Given the description of an element on the screen output the (x, y) to click on. 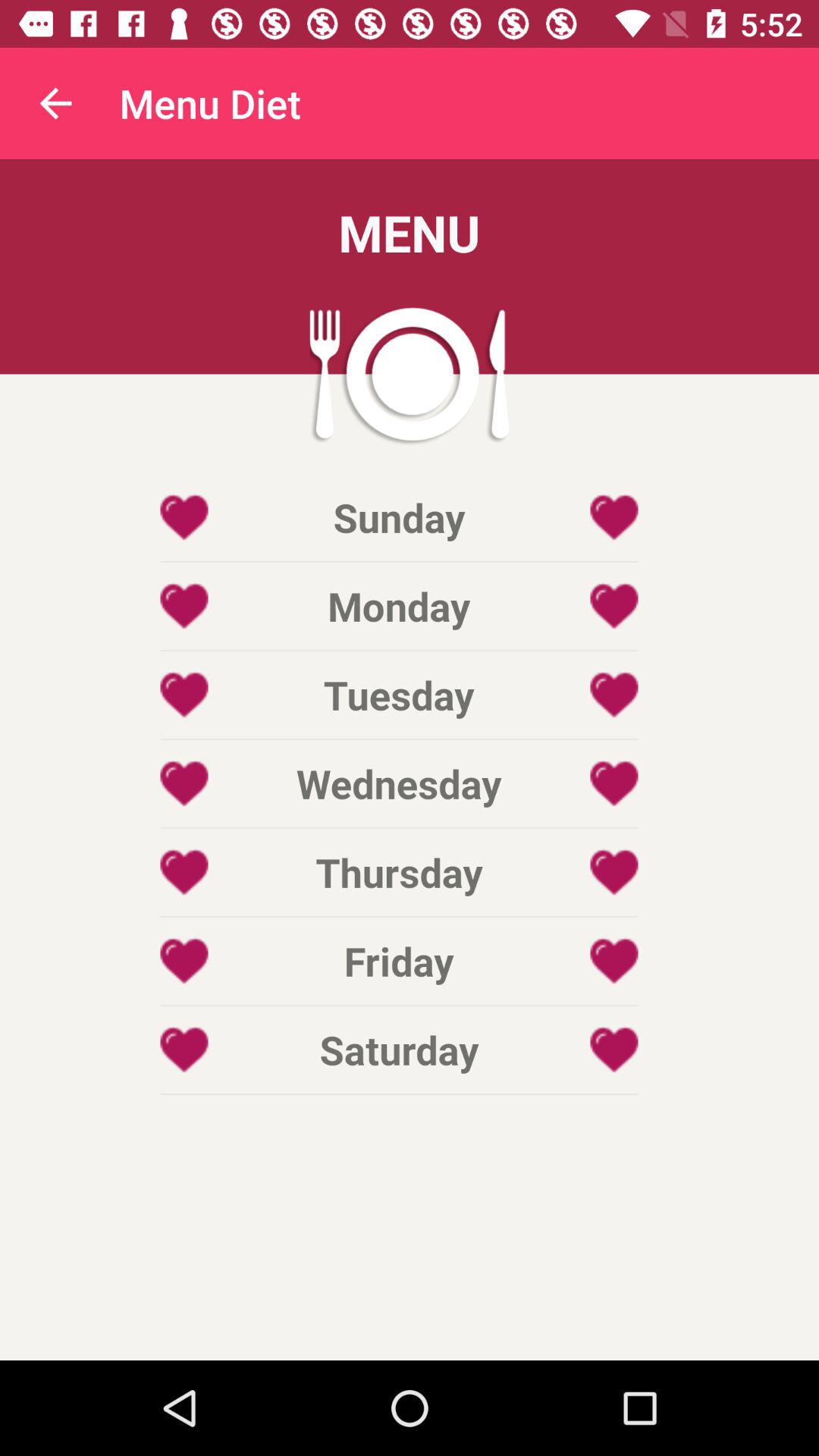
launch item next to menu diet (55, 103)
